Given the description of an element on the screen output the (x, y) to click on. 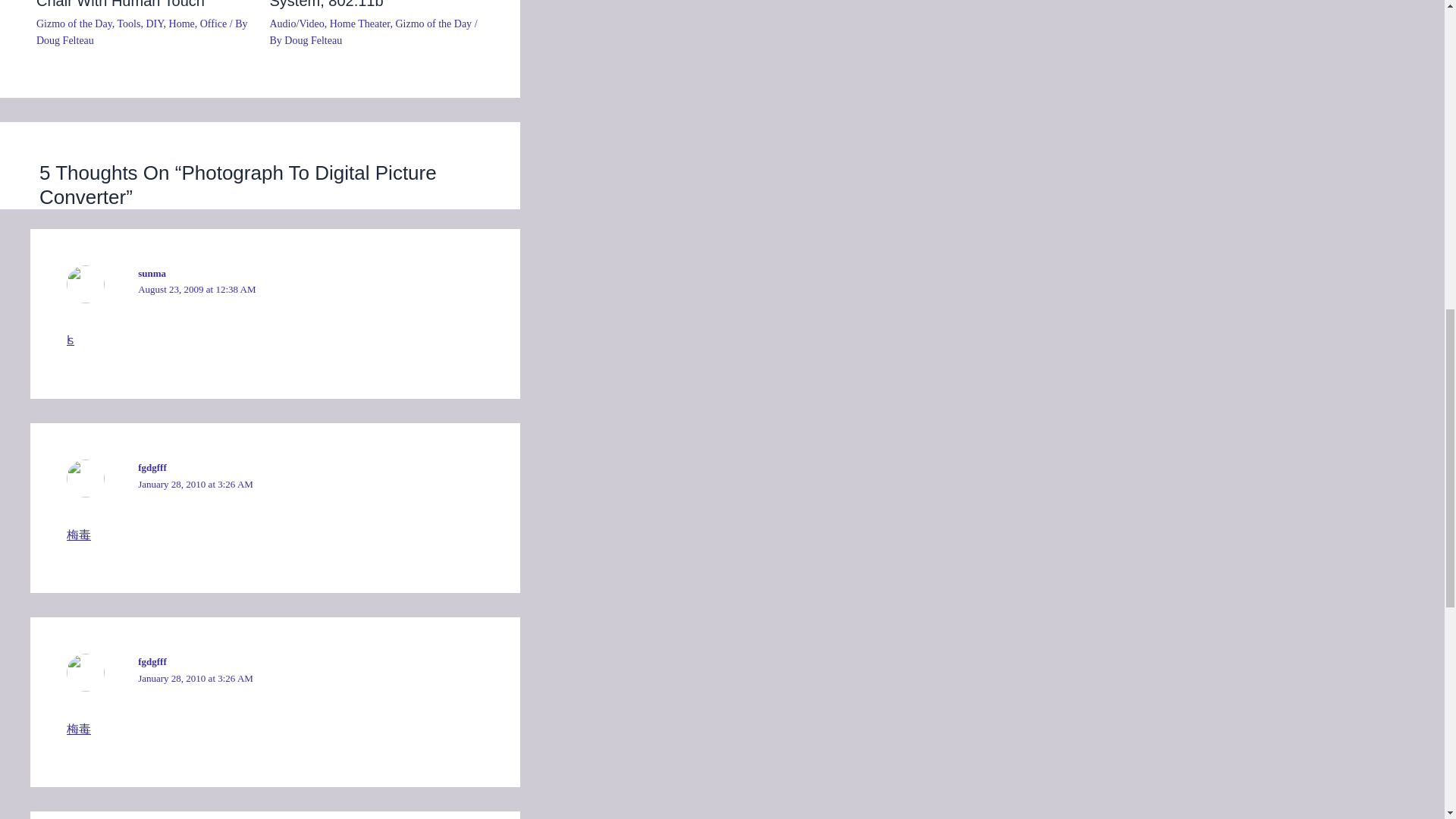
Gizmo of the Day (432, 23)
sunma (151, 273)
View all posts by Doug Felteau (312, 40)
Gizmo of the Day (74, 23)
Doug Felteau (312, 40)
August 23, 2009 at 12:38 AM (197, 288)
IJoy Turbo Robotic Massage Chair With Human Touch (132, 4)
View all posts by Doug Felteau (65, 40)
Doug Felteau (65, 40)
January 28, 2010 at 3:26 AM (195, 483)
fgdgfff (152, 467)
Linksys Wireless-B Music System, 802.11b (355, 4)
Tools, DIY, Home, Office (172, 23)
